Given the description of an element on the screen output the (x, y) to click on. 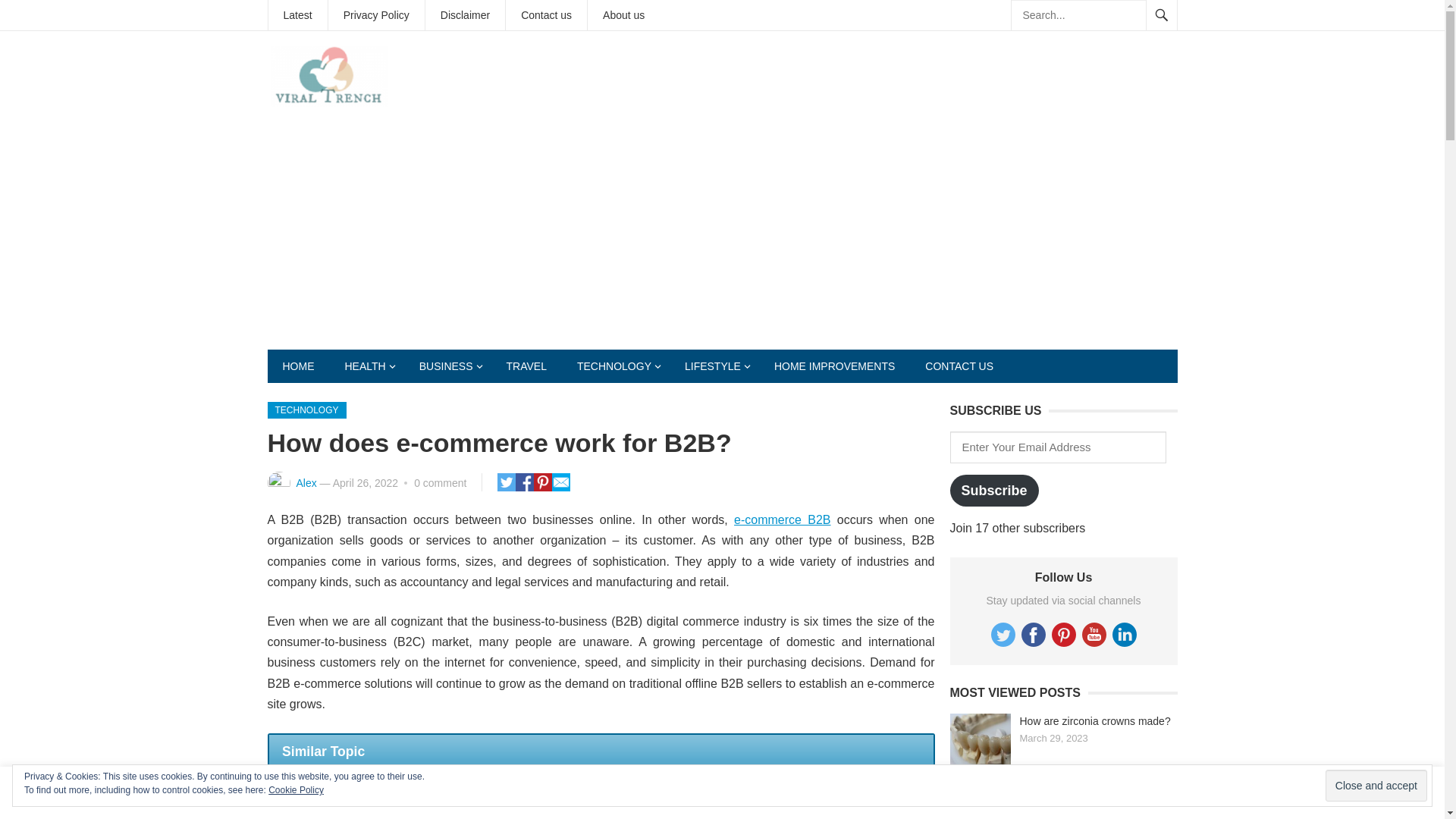
TECHNOLOGY (615, 366)
Close and accept (1375, 785)
HEALTH (366, 366)
CONTACT US (959, 366)
BUSINESS (448, 366)
HOME (297, 366)
About us (623, 15)
TRAVEL (527, 366)
Posts by Alex (305, 482)
Privacy Policy (377, 15)
LIFESTYLE (713, 366)
Contact us (545, 15)
HOME IMPROVEMENTS (834, 366)
Latest (297, 15)
